Given the description of an element on the screen output the (x, y) to click on. 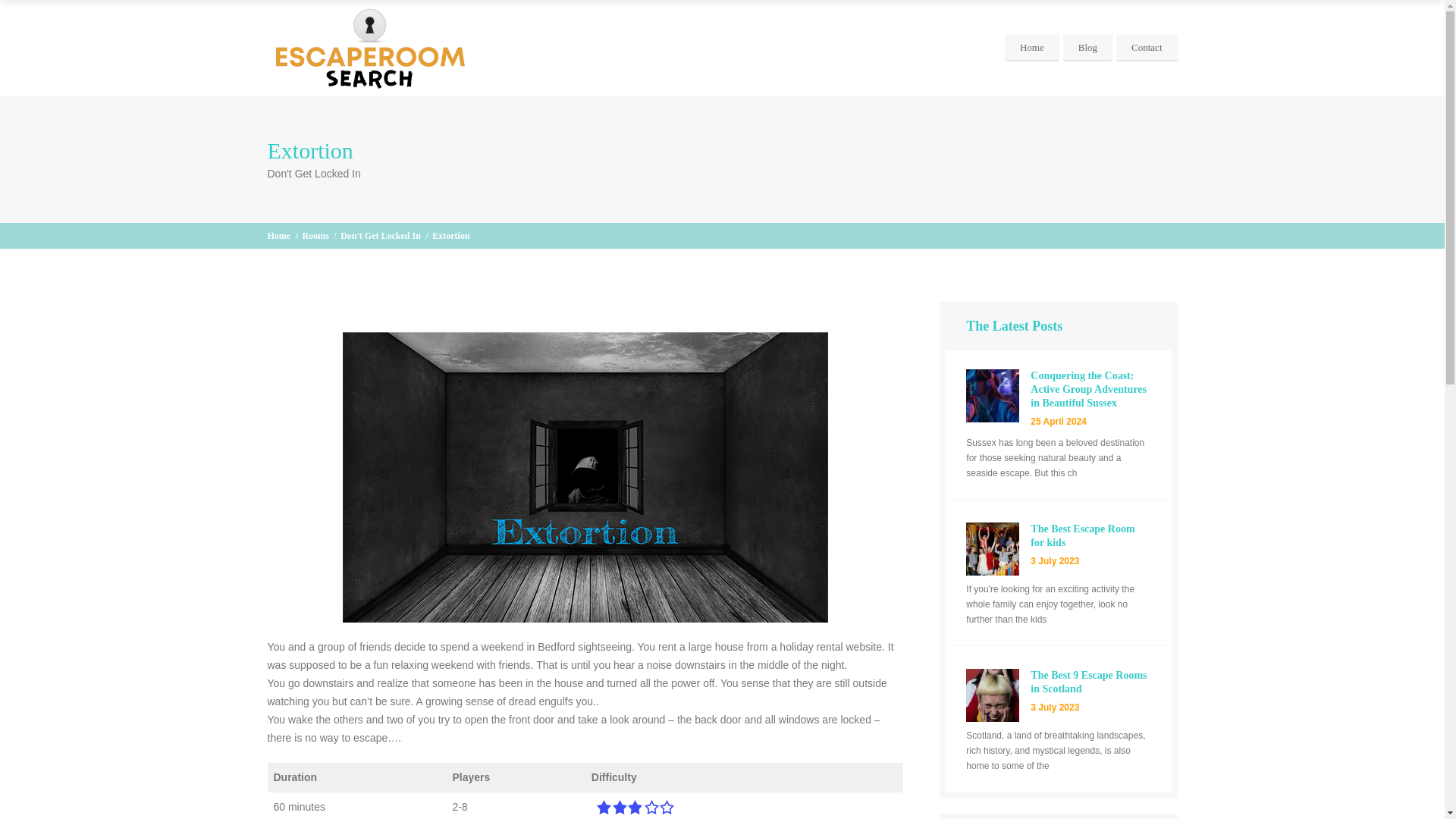
Escape Room Search (277, 235)
Home (1031, 47)
Contact (1146, 47)
Escape Room Search (368, 47)
Blog (1058, 545)
Rooms (1087, 47)
Home (315, 235)
Rooms (277, 235)
Don't Get Locked In (315, 235)
